Given the description of an element on the screen output the (x, y) to click on. 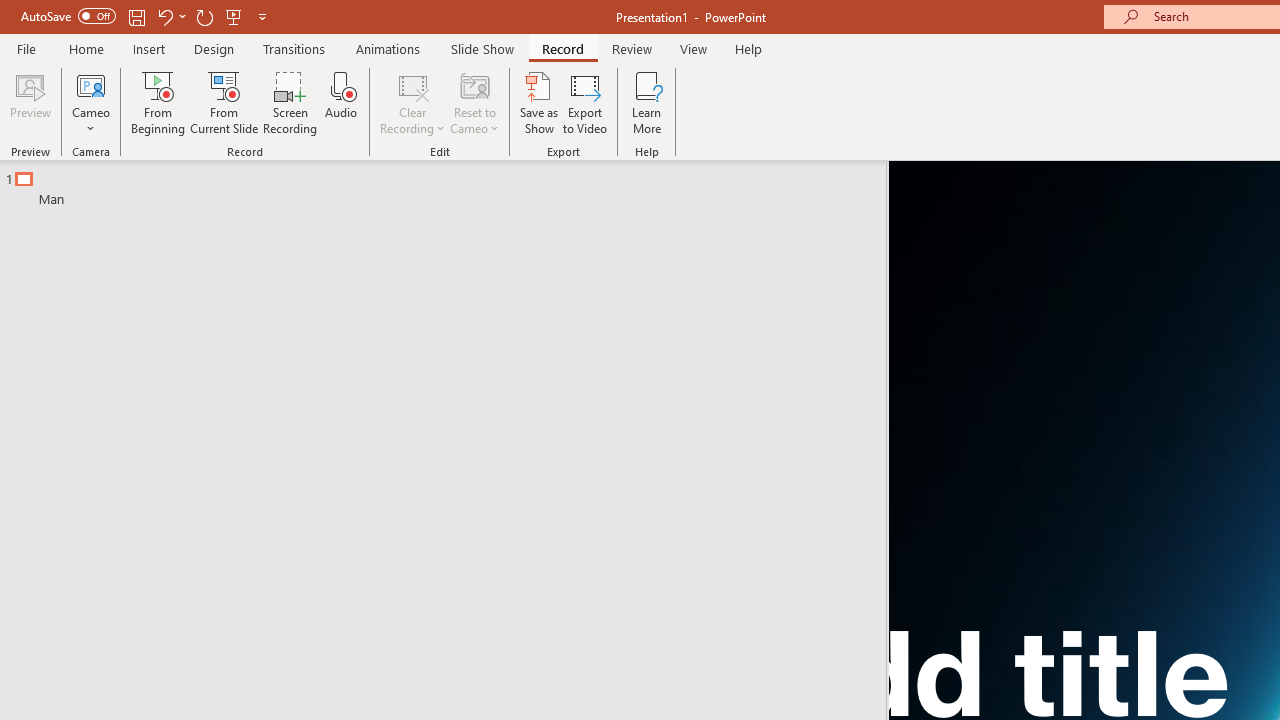
Save as Show (539, 102)
